Given the description of an element on the screen output the (x, y) to click on. 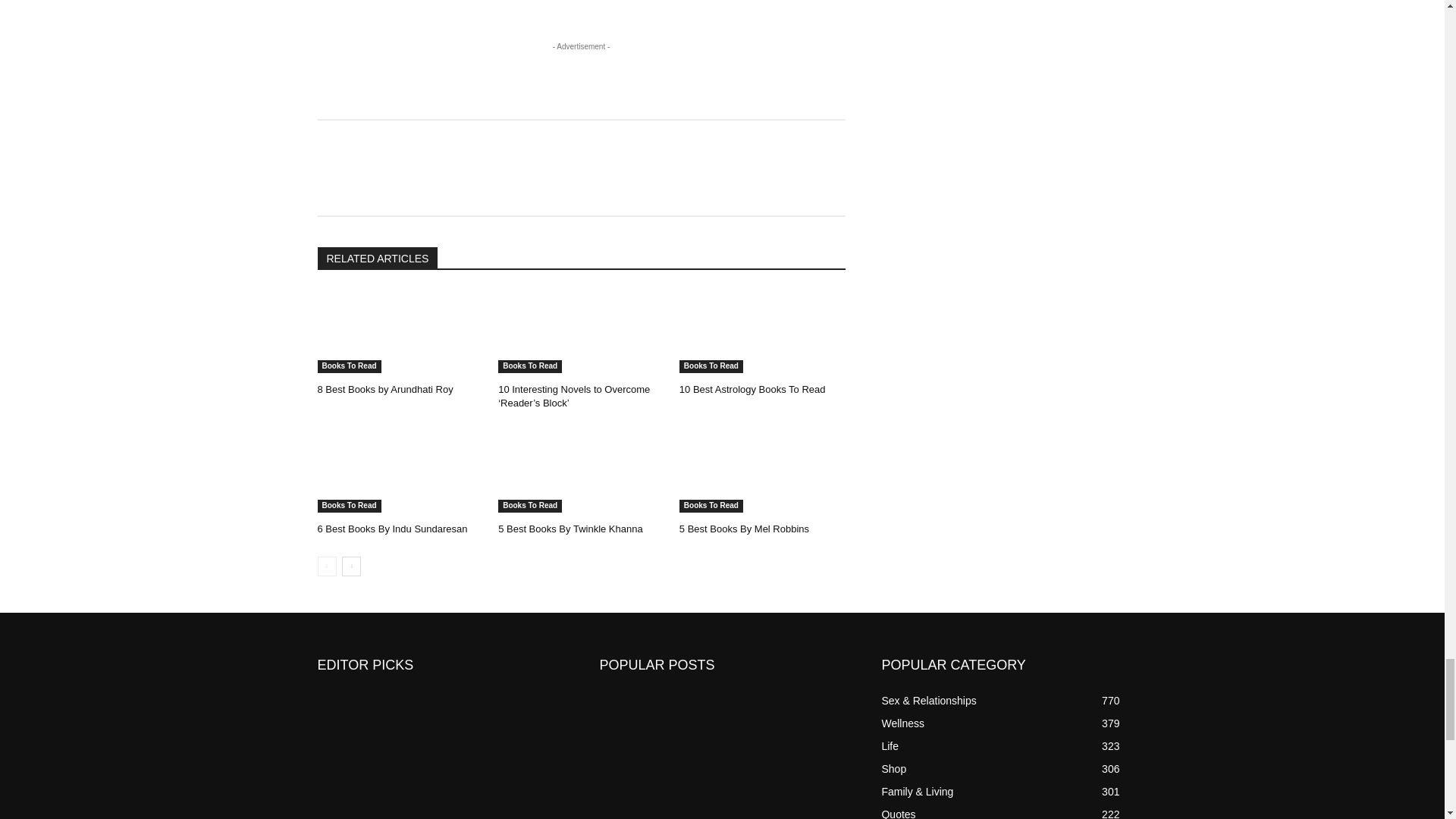
8 Best Books by Arundhati Roy (400, 330)
